Given the description of an element on the screen output the (x, y) to click on. 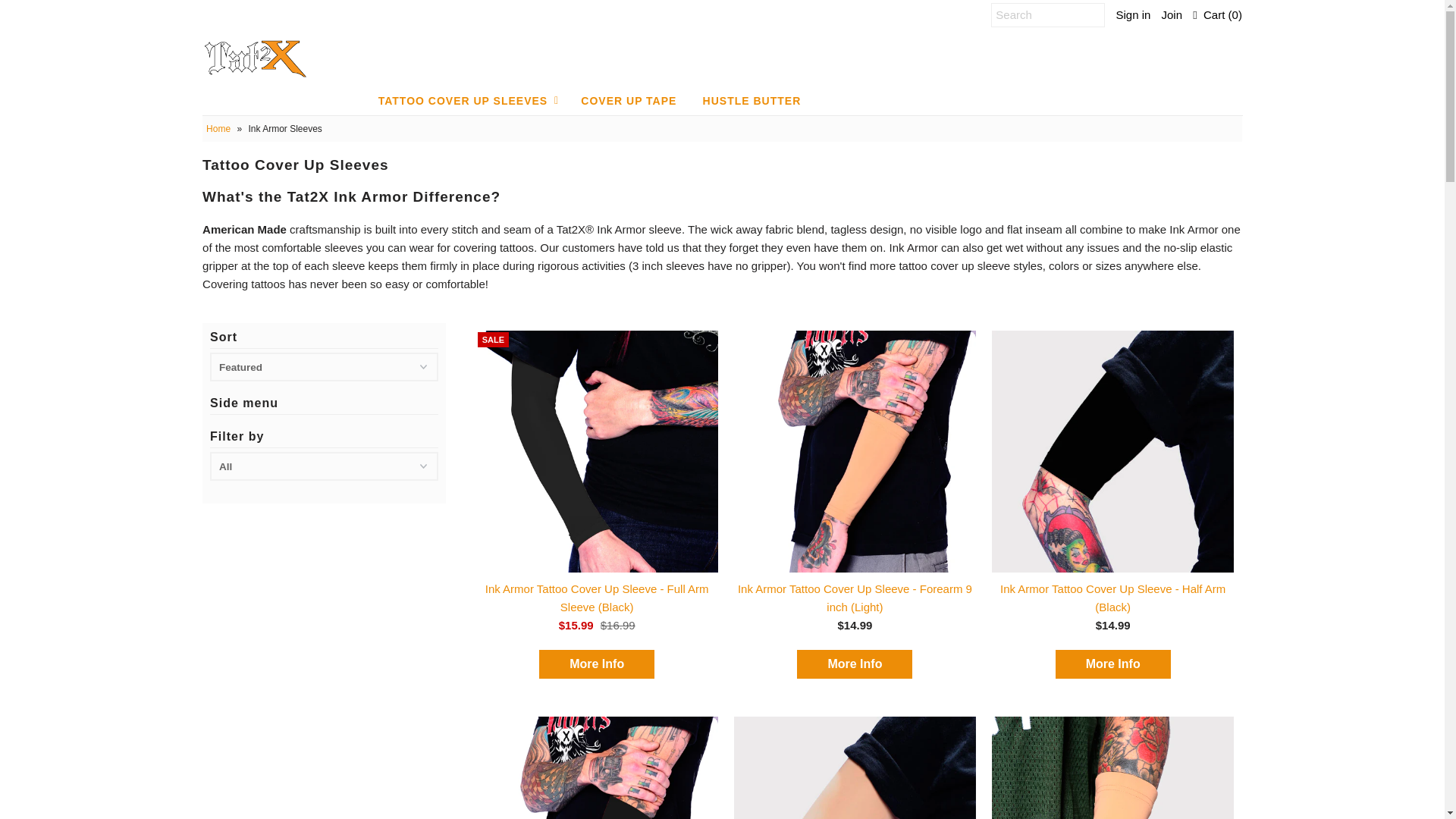
More Info (1112, 664)
More Info (854, 664)
Back to the frontpage (220, 128)
HUSTLE BUTTER (751, 100)
TATTOO COVER UP SLEEVES (462, 100)
Sign in (1132, 14)
Join (1171, 14)
Home (220, 128)
More Info (595, 664)
COVER UP TAPE (628, 100)
